Given the description of an element on the screen output the (x, y) to click on. 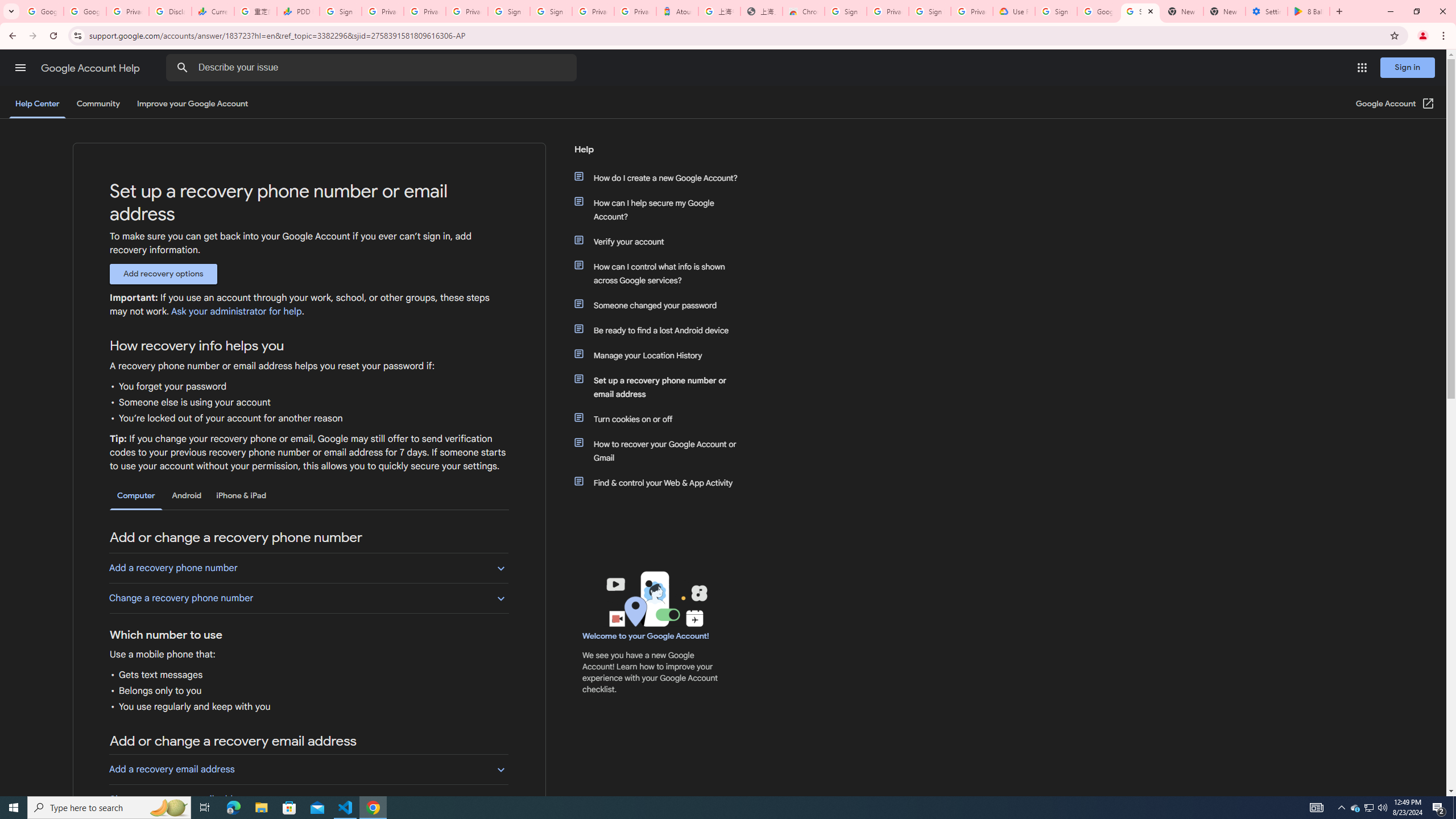
How can I control what info is shown across Google services? (661, 273)
Set up a recovery phone number or email address (661, 387)
Privacy Checkup (467, 11)
Atour Hotel - Google hotels (676, 11)
Verify your account (661, 241)
Sign in - Google Accounts (340, 11)
Learning Center home page image (655, 598)
Welcome to your Google Account! (645, 635)
Settings - System (1266, 11)
Android (186, 495)
